Given the description of an element on the screen output the (x, y) to click on. 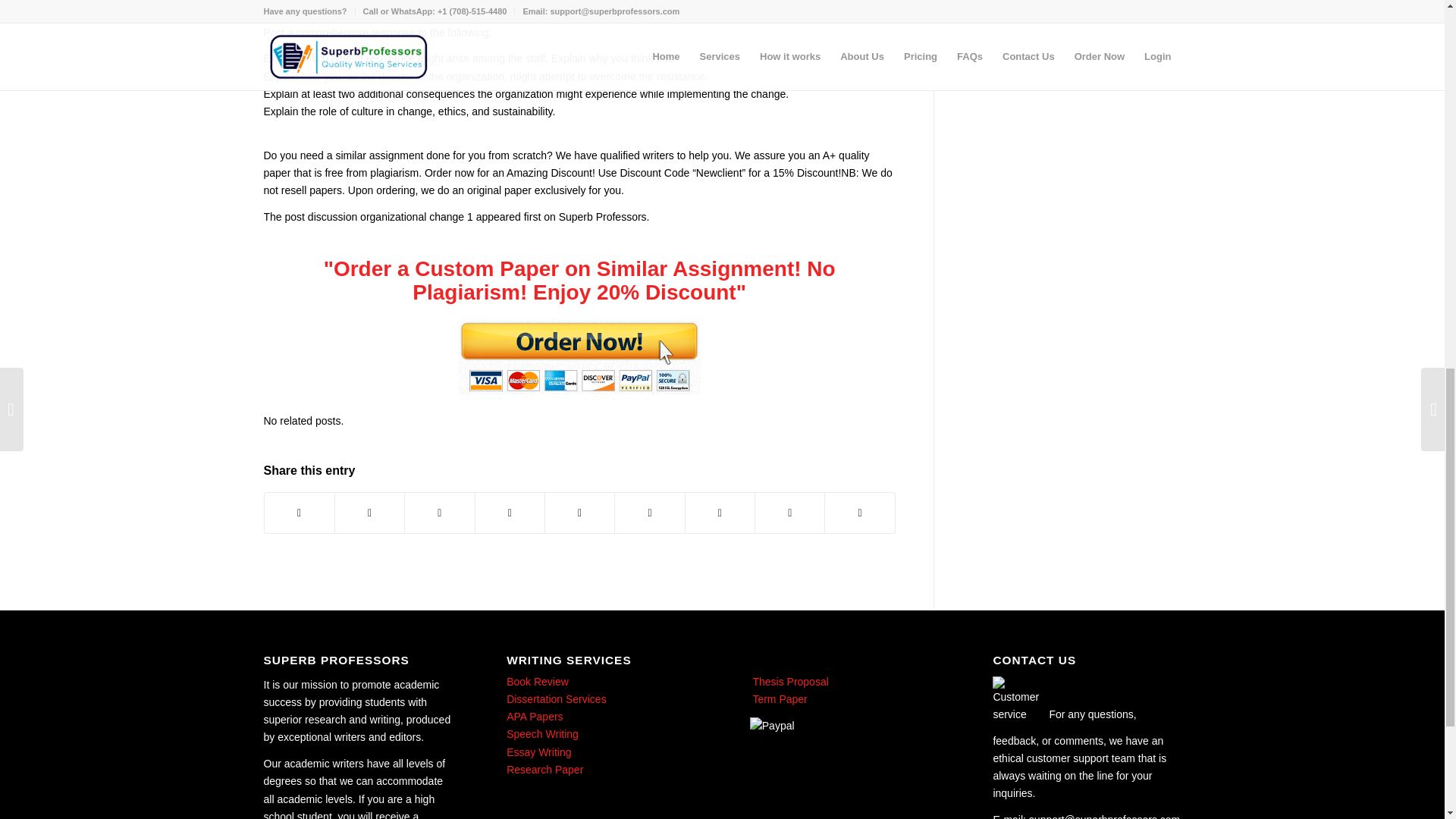
APA Papers (534, 716)
Essay Writing (538, 752)
 Thesis Proposal (788, 681)
 Term Paper (778, 698)
Research Paper (544, 769)
Book Review (537, 681)
Speech Writing (542, 734)
Dissertation Services (556, 698)
